Given the description of an element on the screen output the (x, y) to click on. 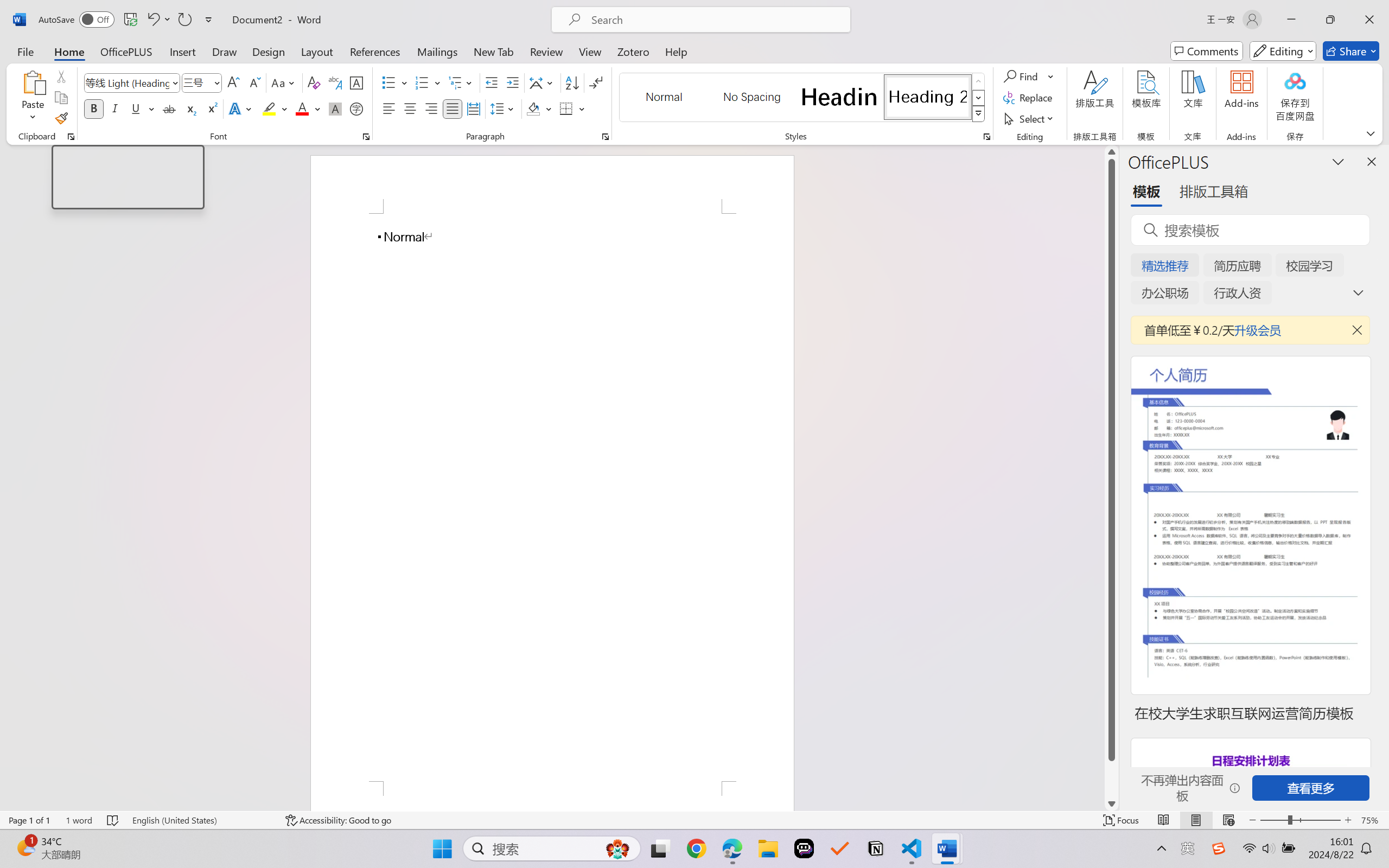
Page Number Page 1 of 1 (29, 819)
Format Painter (60, 118)
Task Pane Options (1338, 161)
Phonetic Guide... (334, 82)
Ribbon Display Options (1370, 132)
Styles (978, 113)
Class: NetUIImage (978, 114)
Comments (1206, 50)
Language English (United States) (201, 819)
Row Down (978, 97)
Bold (94, 108)
Row up (978, 81)
